Given the description of an element on the screen output the (x, y) to click on. 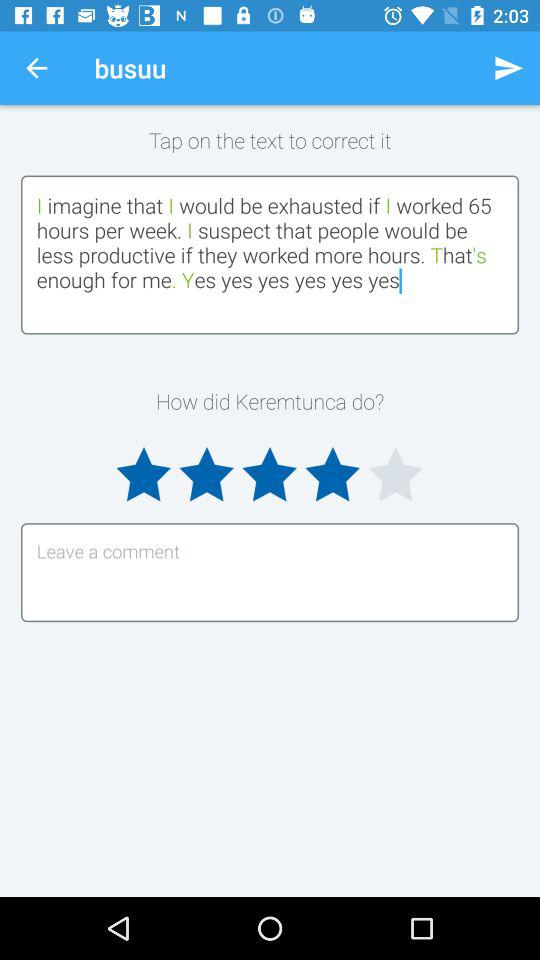
turn on icon to the left of the busuu app (36, 68)
